Given the description of an element on the screen output the (x, y) to click on. 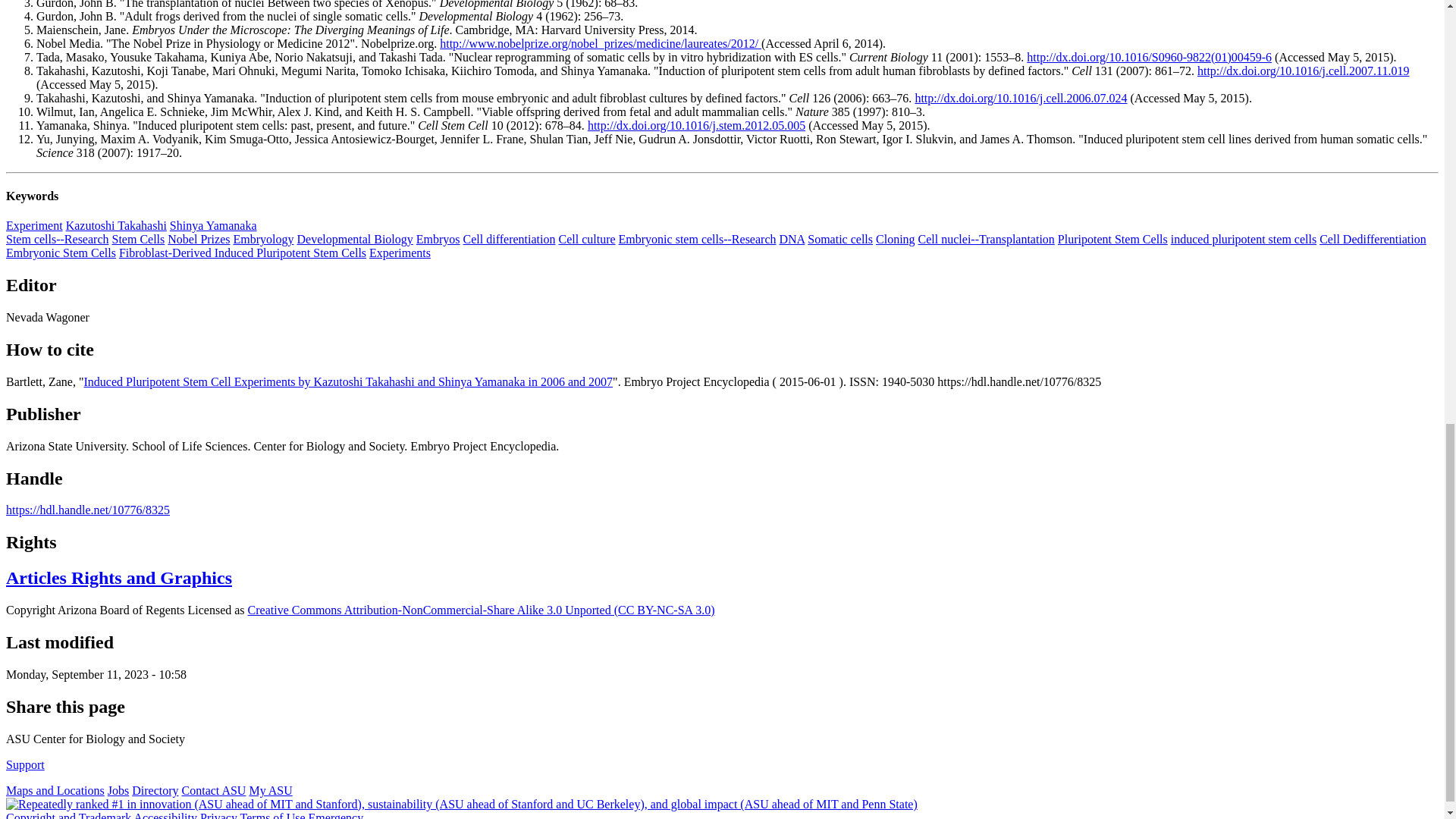
Embryos (438, 238)
Cell nuclei--Transplantation (986, 238)
Fibroblast-Derived Induced Pluripotent Stem Cells (242, 252)
Cell differentiation (509, 238)
Somatic cells (840, 238)
Embryology (263, 238)
Shinya Yamanaka (213, 225)
Experiment (33, 225)
induced pluripotent stem cells (1243, 238)
Developmental Biology (354, 238)
DNA (791, 238)
Cloning (895, 238)
Pluripotent Stem Cells (1112, 238)
Stem cells--Research (57, 238)
